Given the description of an element on the screen output the (x, y) to click on. 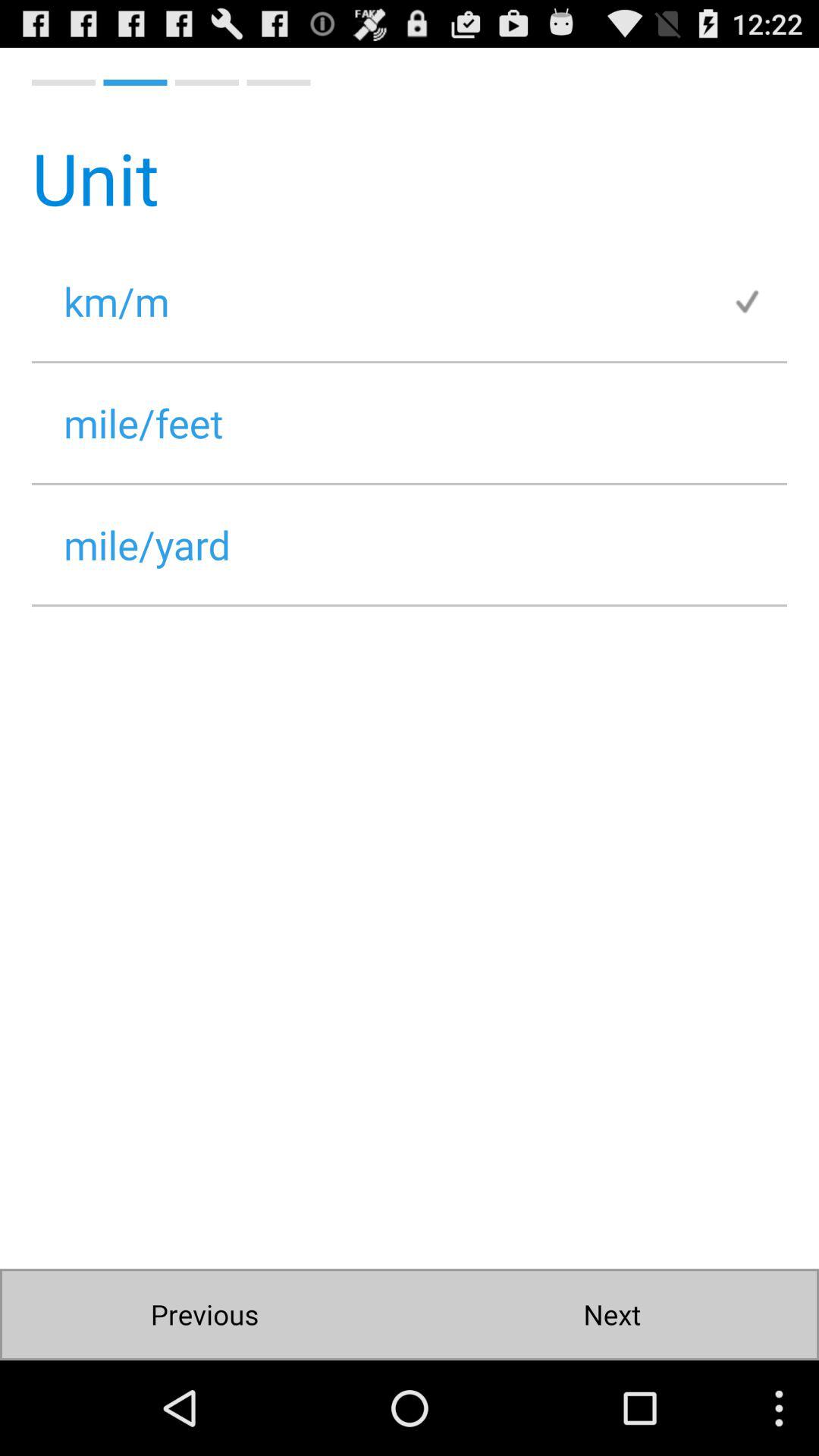
choose item below the mile/yard item (204, 1314)
